Given the description of an element on the screen output the (x, y) to click on. 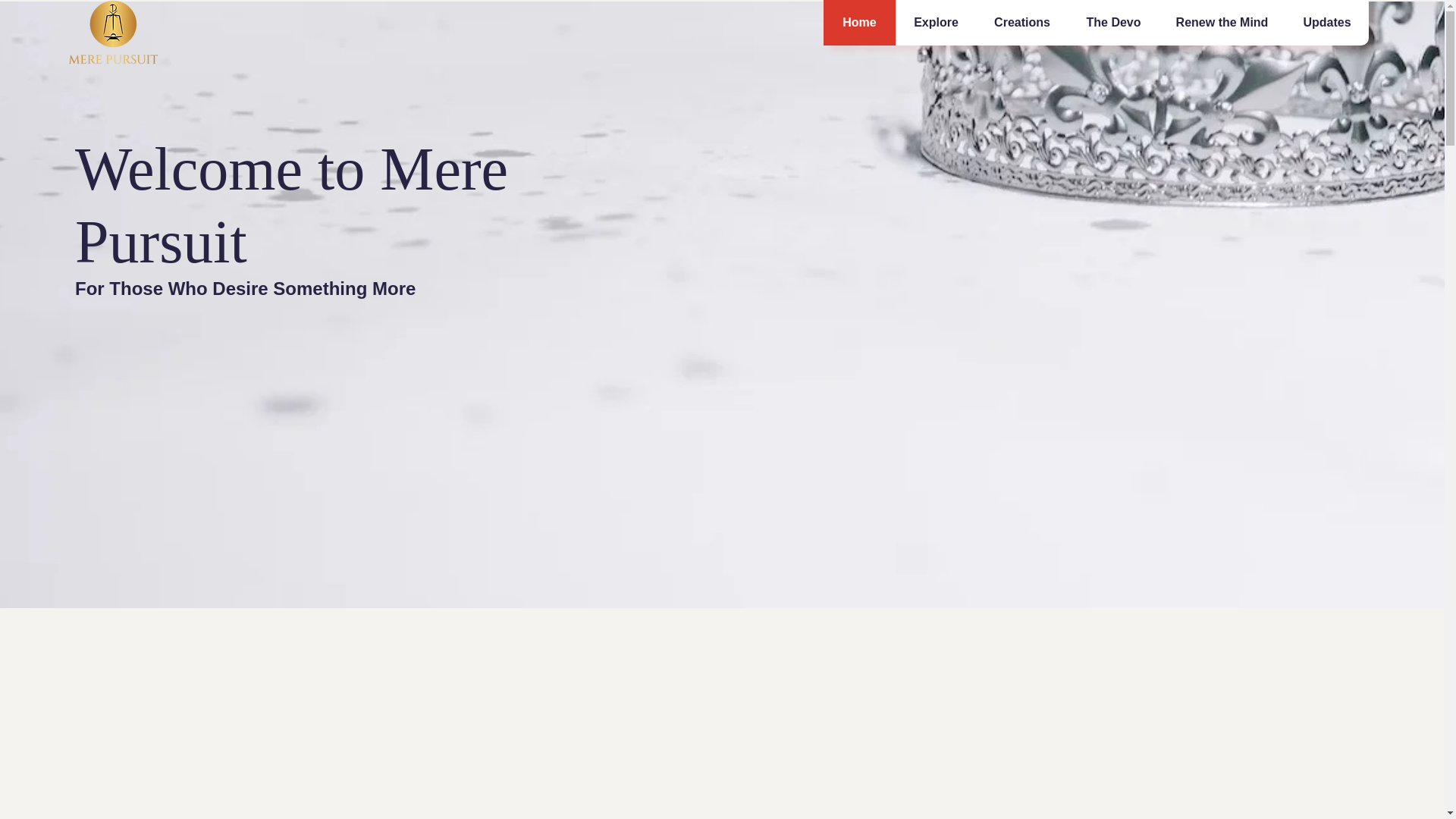
Creations (1021, 22)
The Devo (1112, 22)
Explore (935, 22)
Home (859, 22)
cropped-cropped-cropped-cropped-Logo-3-e1690921259217-1.png (112, 32)
Updates (1326, 22)
Renew the Mind (1221, 22)
